Given the description of an element on the screen output the (x, y) to click on. 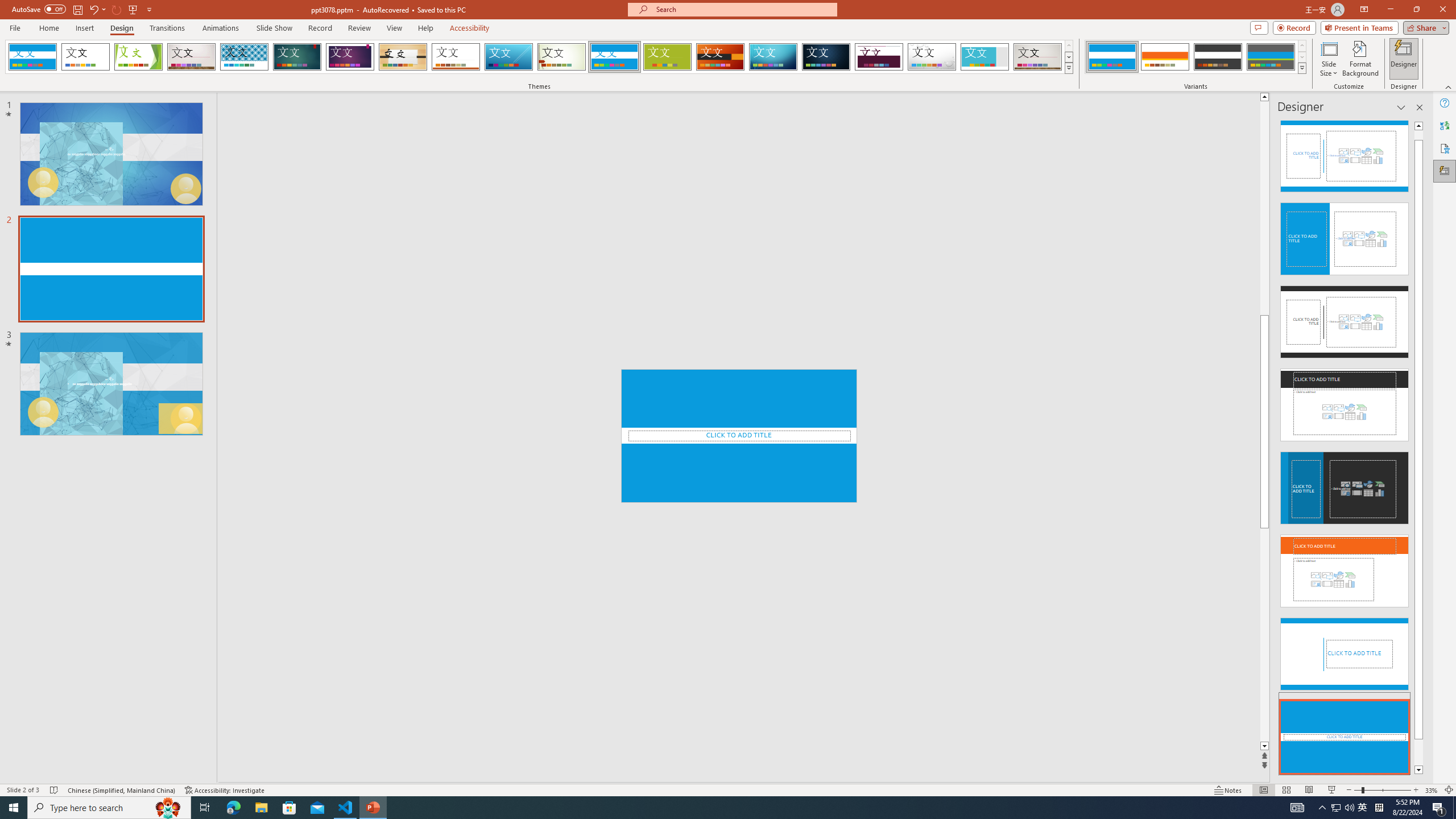
Recommended Design: Design Idea (1344, 152)
Banded Variant 2 (1164, 56)
Organic (403, 56)
AutomationID: SlideThemesGallery (539, 56)
